Given the description of an element on the screen output the (x, y) to click on. 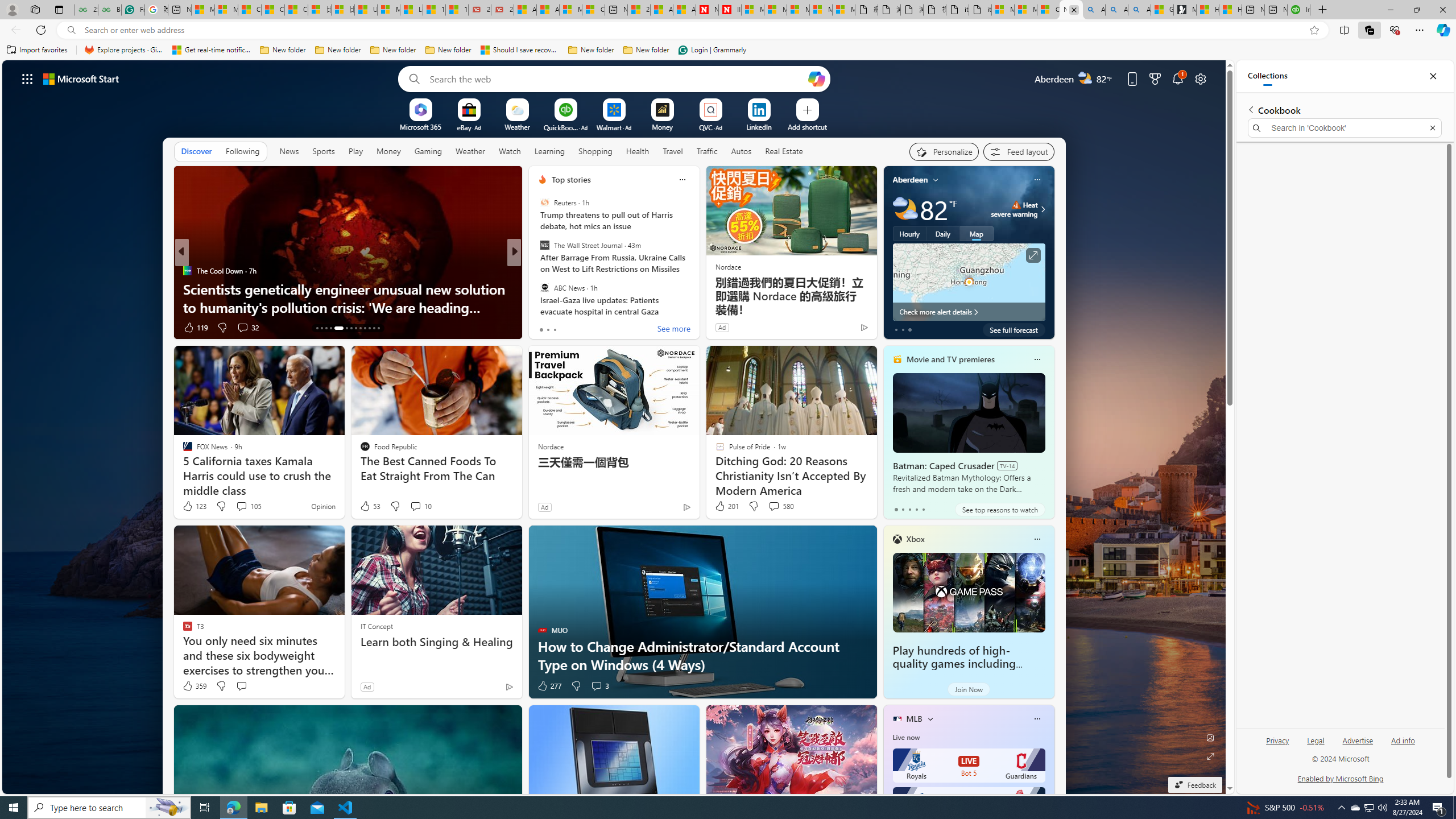
Newsweek (537, 288)
AutomationID: tab-21 (360, 328)
View comments 5 Comment (592, 327)
AutomationID: tab-14 (321, 328)
View comments 413 Comment (599, 327)
View comments 580 Comment (773, 505)
Click to see more information (1033, 255)
Join Now (968, 689)
